Given the description of an element on the screen output the (x, y) to click on. 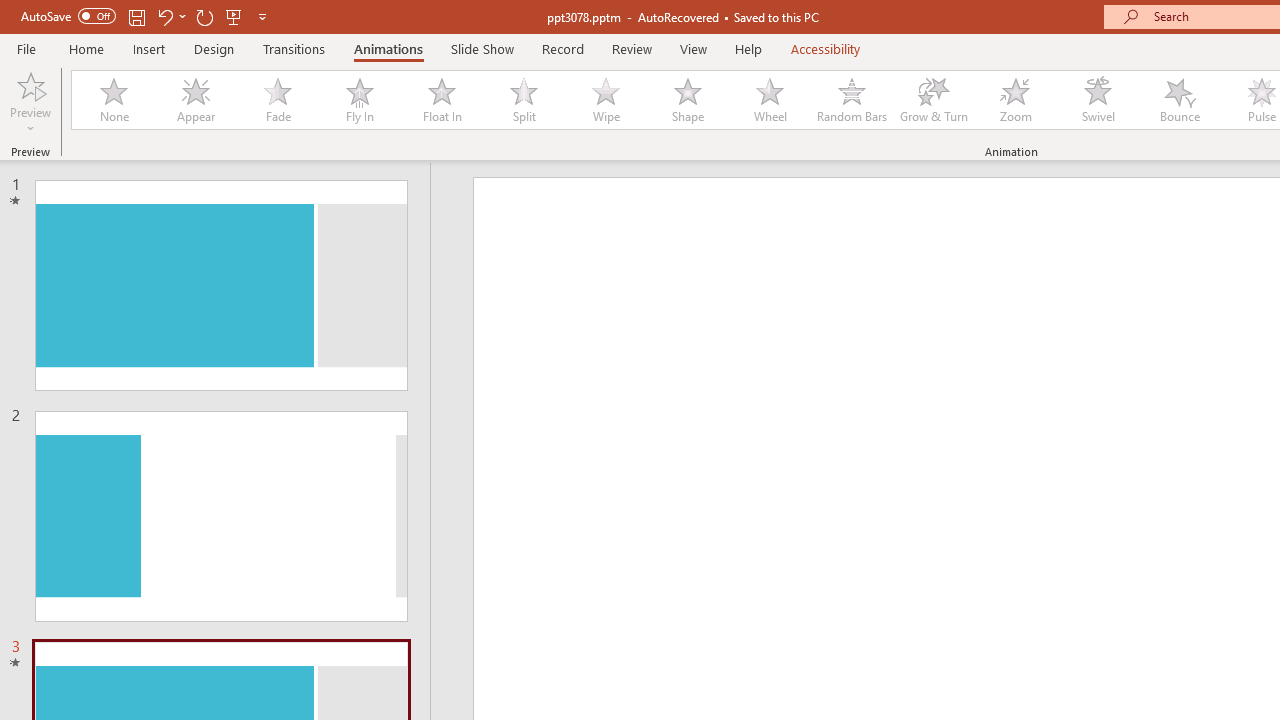
Float In (441, 100)
Appear (195, 100)
Grow & Turn (934, 100)
Bounce (1180, 100)
Fade (277, 100)
None (113, 100)
